Given the description of an element on the screen output the (x, y) to click on. 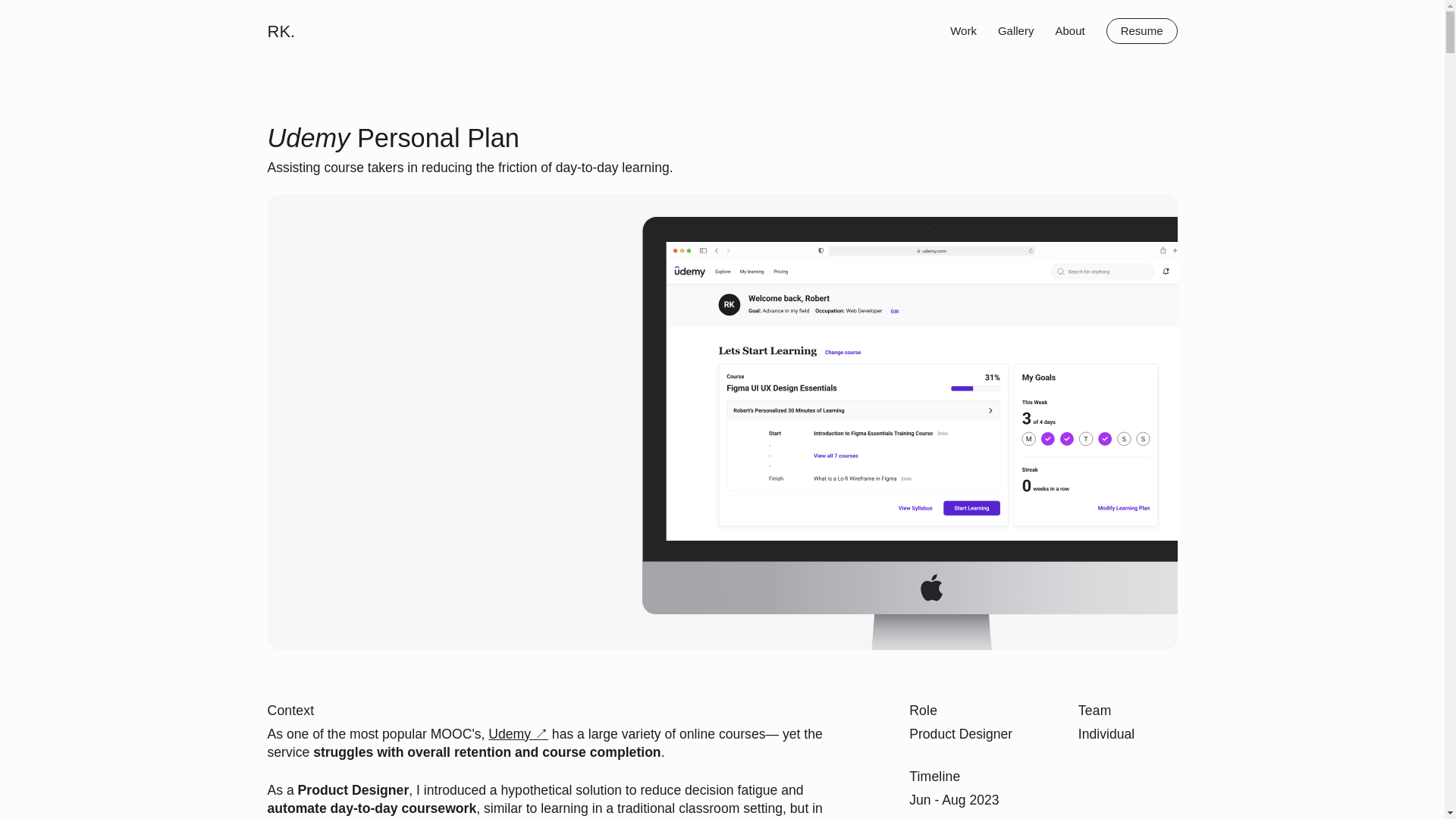
RK. (280, 31)
Work (963, 31)
Resume (1141, 31)
Gallery (1015, 31)
About (1069, 31)
